Given the description of an element on the screen output the (x, y) to click on. 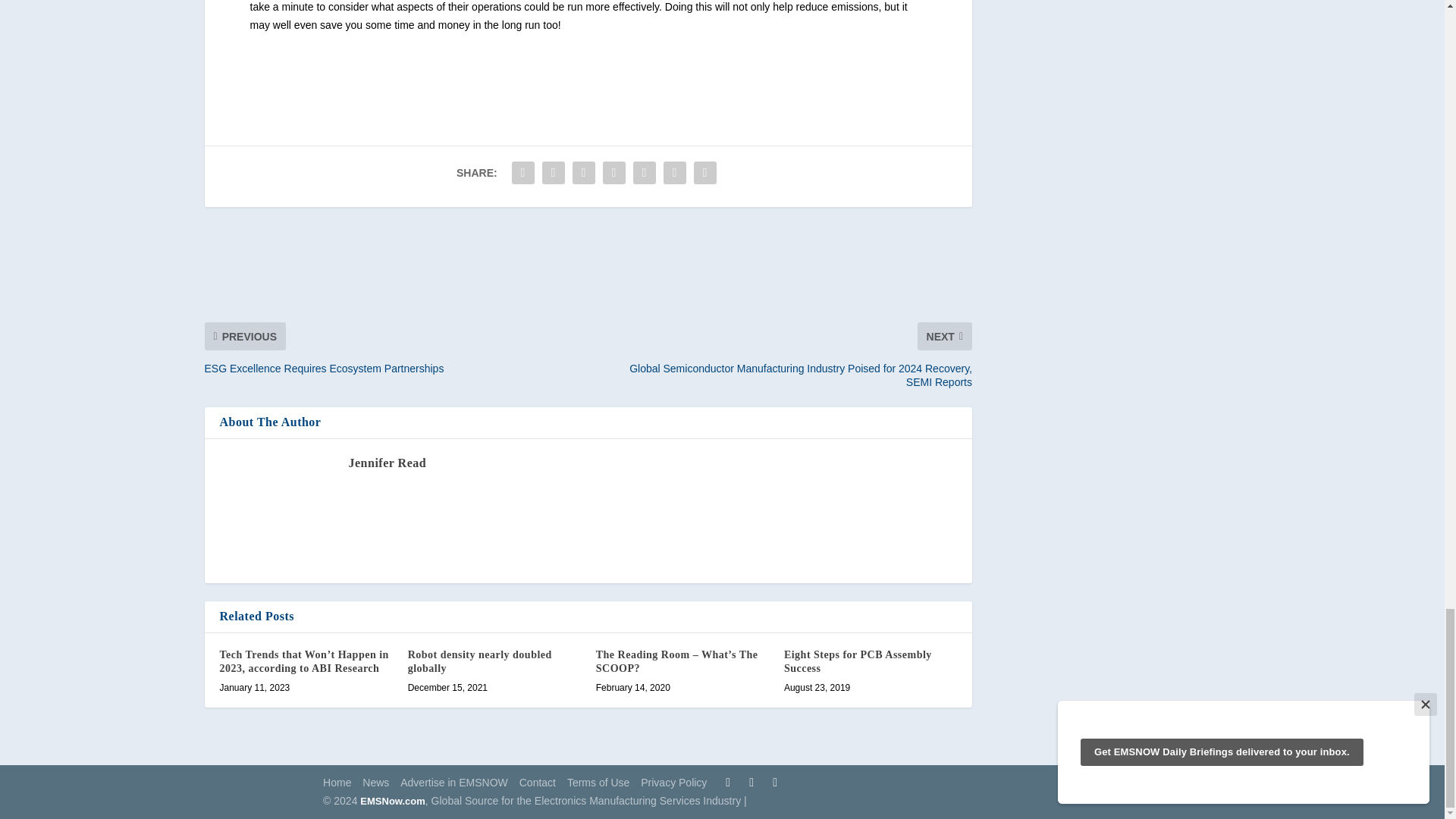
EMSNow.com (392, 800)
View all posts by Jennifer Read (387, 462)
